Given the description of an element on the screen output the (x, y) to click on. 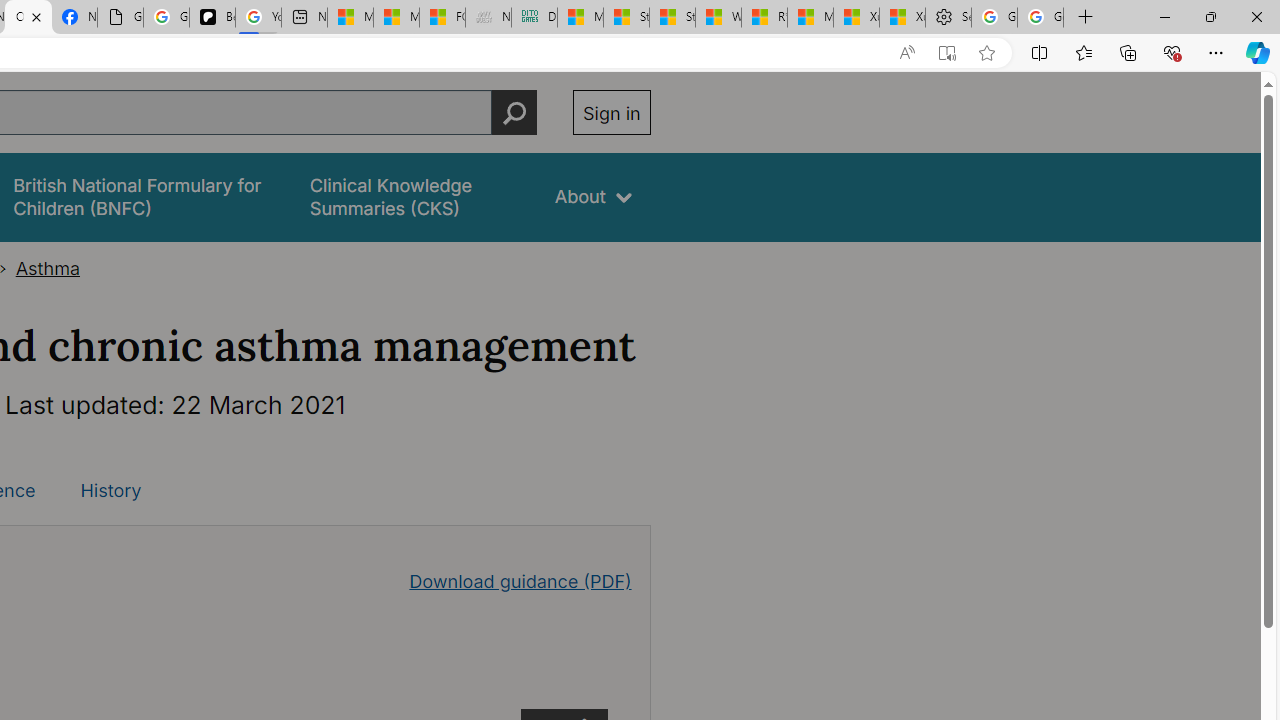
FOX News - MSN (441, 17)
Download guidance (PDF) (520, 580)
false (413, 196)
History (110, 490)
